Given the description of an element on the screen output the (x, y) to click on. 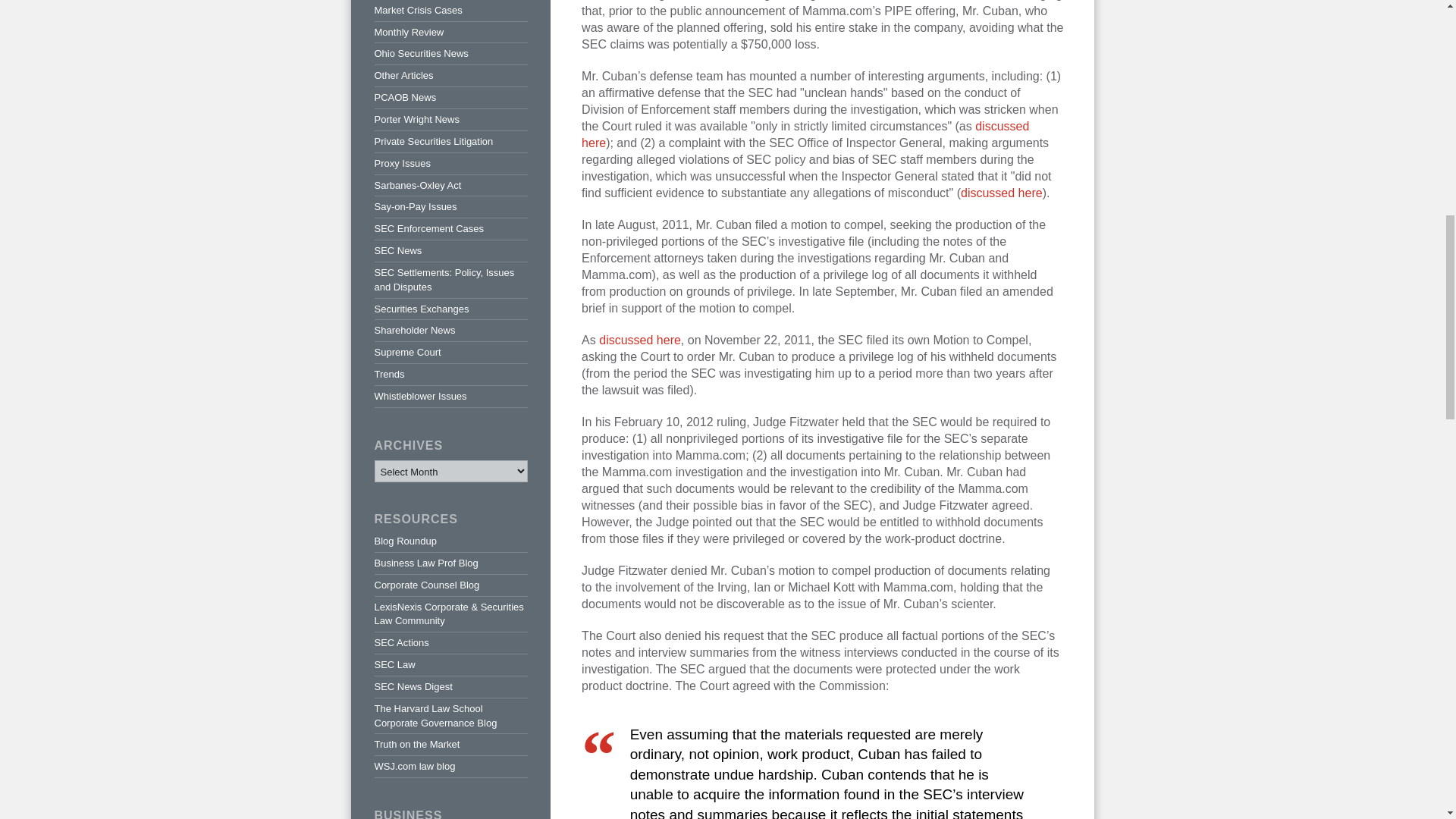
discussed here (804, 134)
discussed here (639, 339)
discussed here (1001, 192)
